Given the description of an element on the screen output the (x, y) to click on. 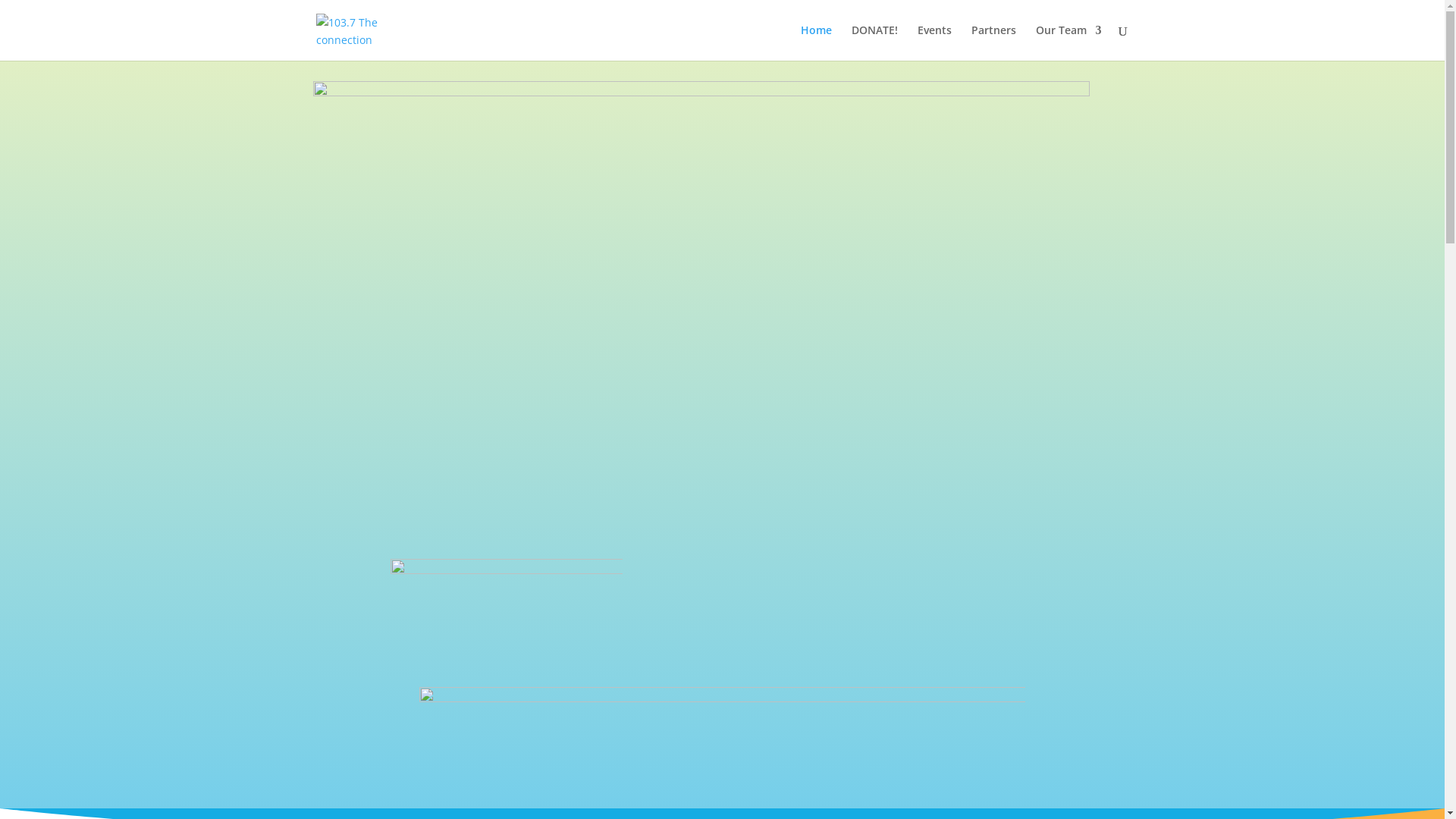
jackraw (2) Element type: hover (700, 299)
Our Team Element type: text (1068, 42)
DONATE! Element type: text (873, 42)
Events Element type: text (934, 42)
Partners Element type: text (992, 42)
1037TheconnectionLogo-white2 Element type: hover (506, 602)
Home Element type: text (815, 42)
